Given the description of an element on the screen output the (x, y) to click on. 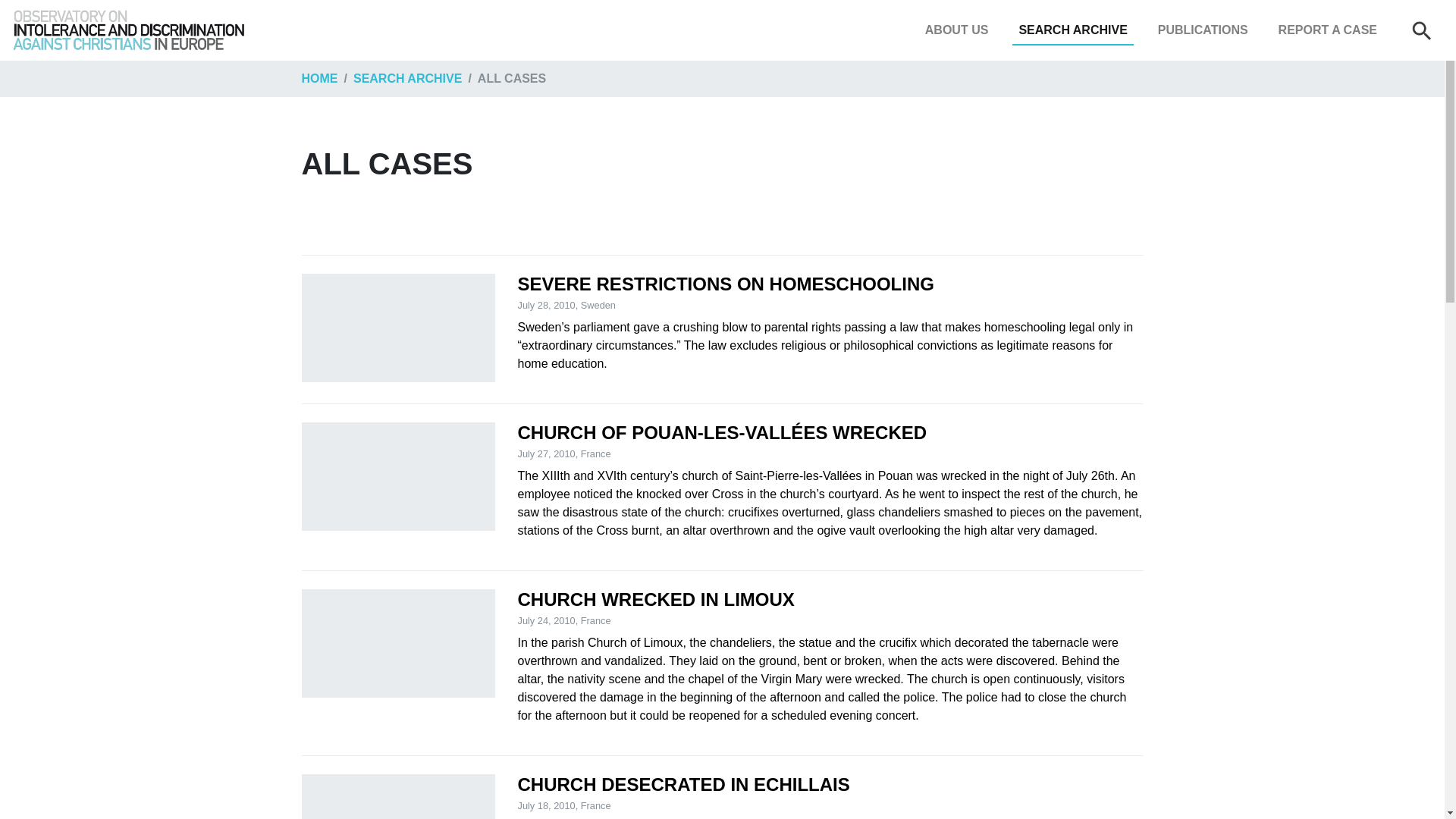
SEARCH ARCHIVE (1071, 30)
Search archive (1071, 30)
About us (956, 30)
PUBLICATIONS (1202, 30)
Report a case (1327, 30)
ABOUT US (956, 30)
Publications (1202, 30)
REPORT A CASE (1327, 30)
